Given the description of an element on the screen output the (x, y) to click on. 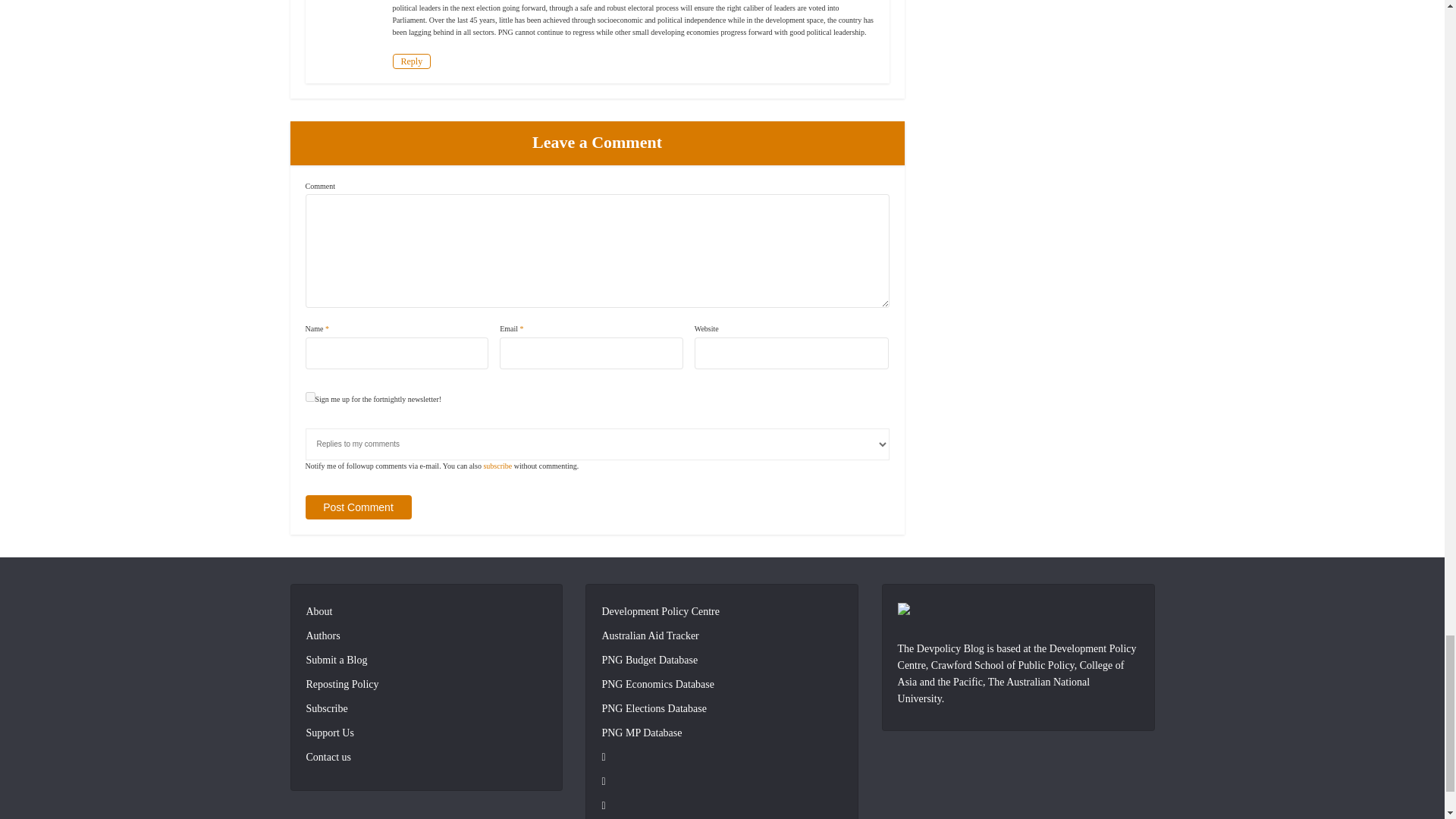
1 (309, 397)
Post Comment (357, 507)
